Given the description of an element on the screen output the (x, y) to click on. 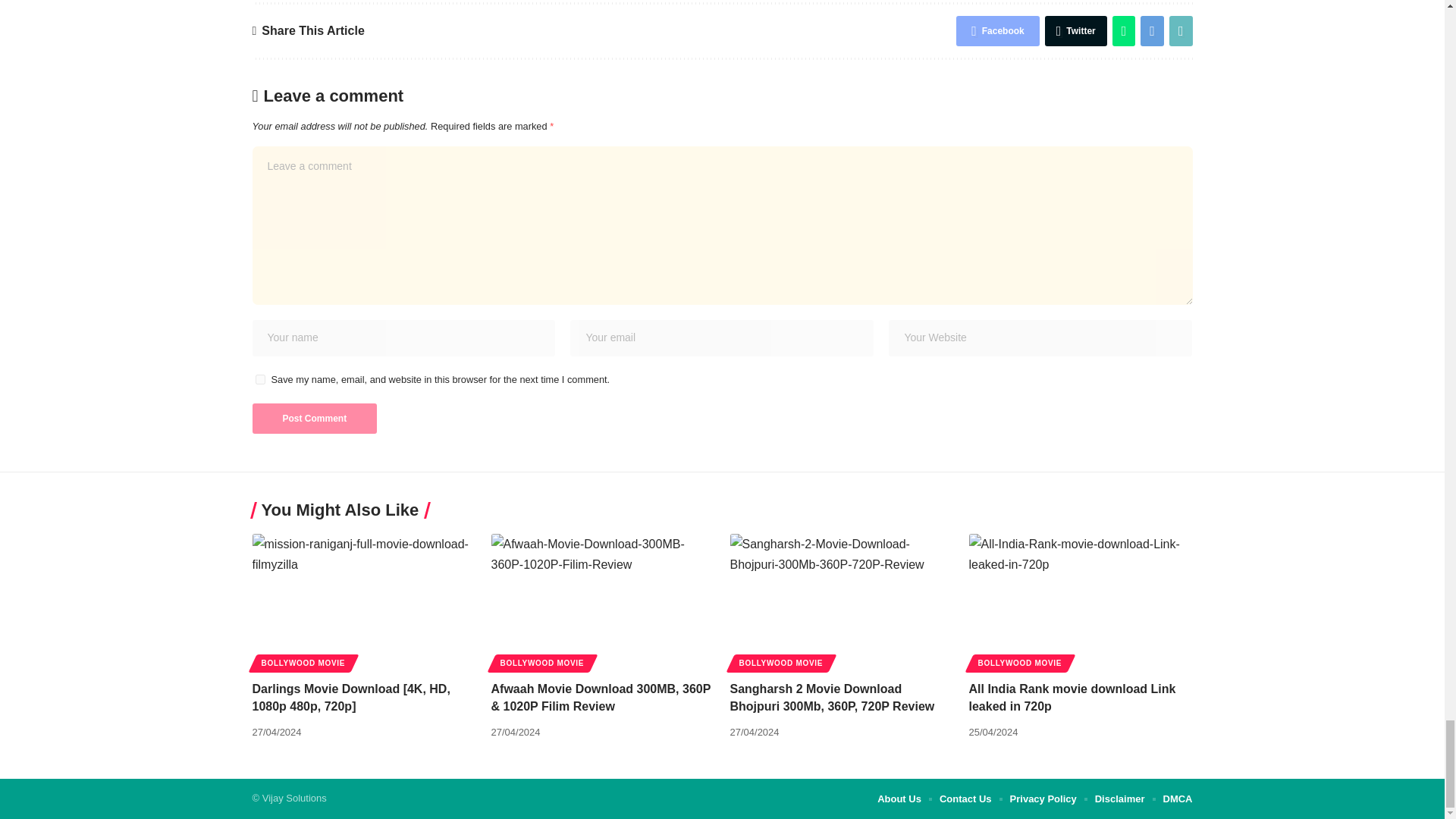
Sangharsh 2 Movie Download Bhojpuri 300Mb, 360P, 720P Review (841, 600)
Post Comment (314, 418)
All India Rank movie download Link leaked in 720p (1080, 600)
yes (259, 379)
